Given the description of an element on the screen output the (x, y) to click on. 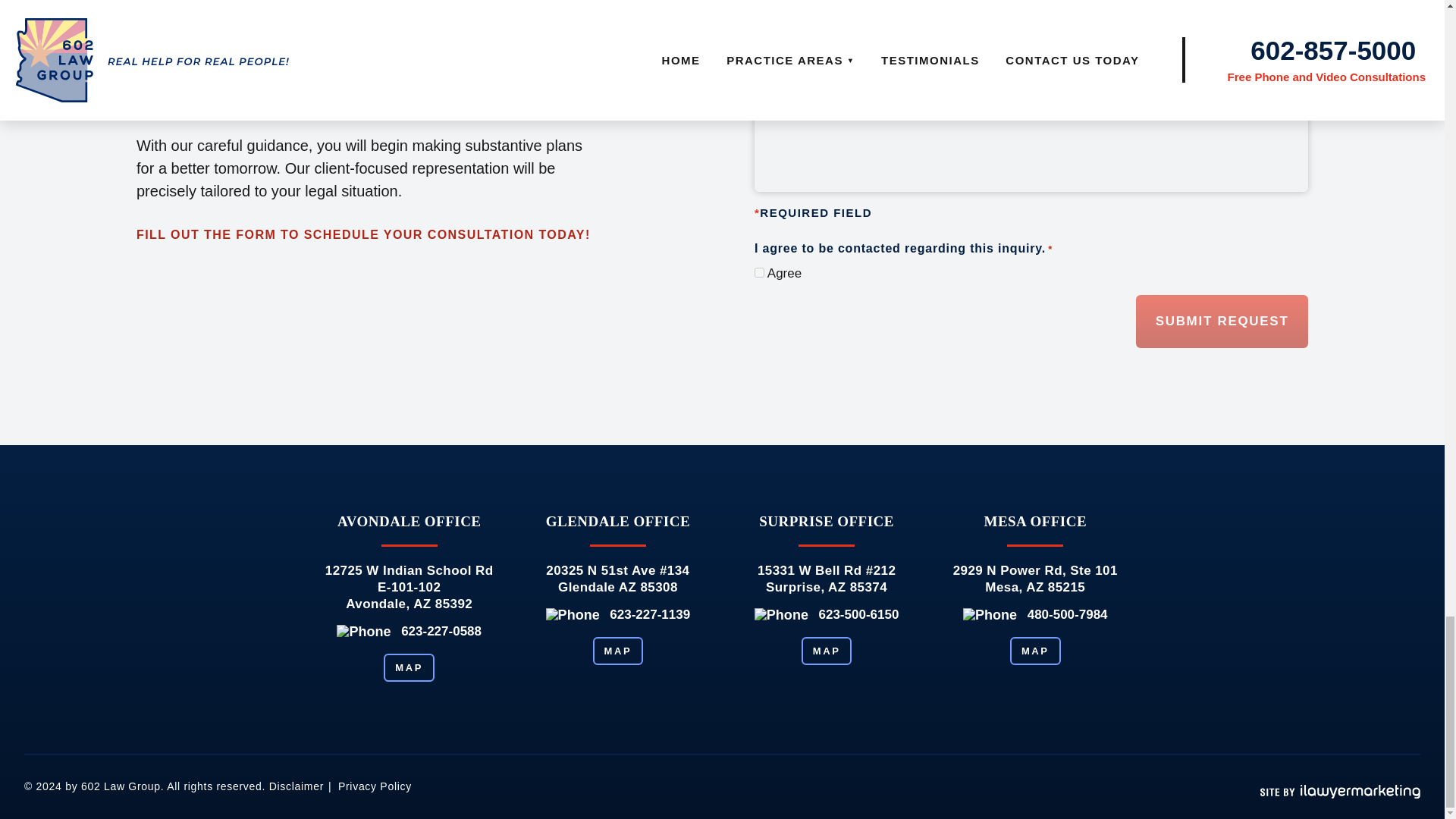
MAP (826, 651)
Privacy Policy (374, 786)
Disclaimer (296, 786)
623-227-0588 (441, 631)
480-500-7984 (1067, 614)
623-227-1139 (650, 614)
1 (759, 272)
MAP (617, 651)
MAP (1035, 651)
623-500-6150 (858, 614)
Submit Request (1221, 321)
MAP (408, 667)
Submit Request (1221, 321)
